Given the description of an element on the screen output the (x, y) to click on. 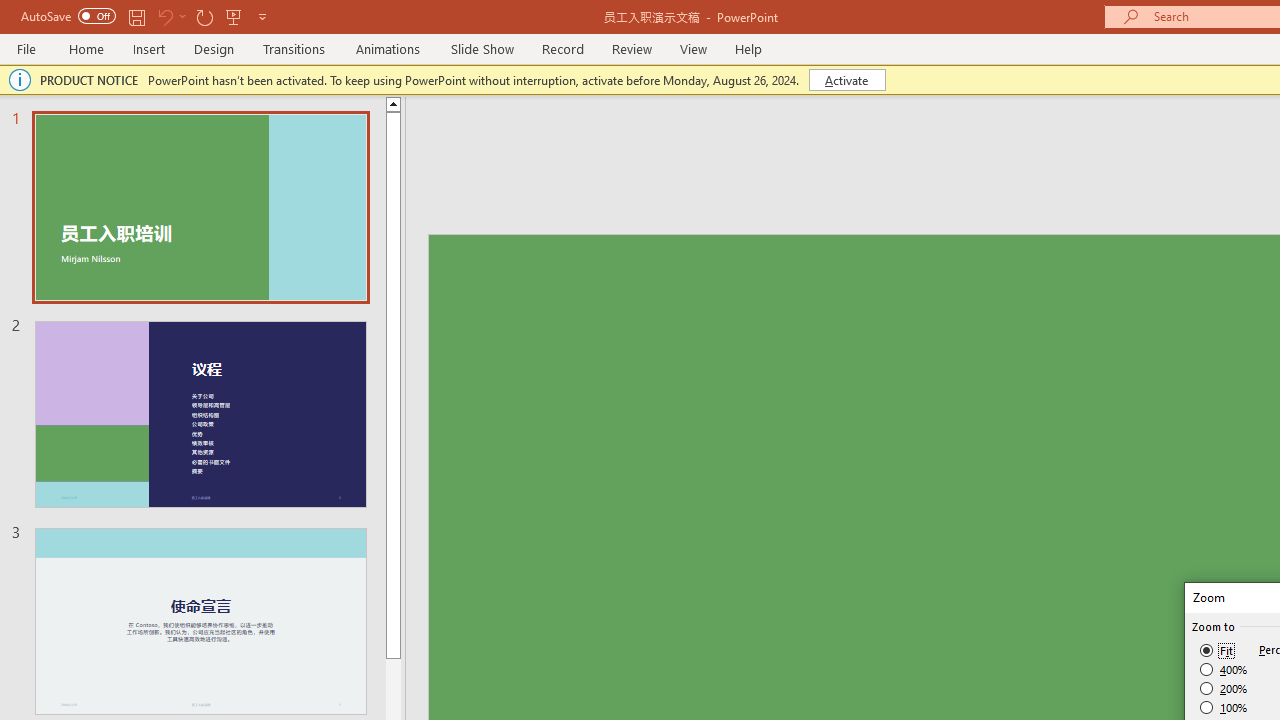
Design (214, 48)
AutoSave (68, 16)
Fit (1217, 650)
100% (1224, 707)
Quick Access Toolbar (145, 16)
System (10, 11)
System (10, 11)
File Tab (26, 48)
Redo (204, 15)
Customize Quick Access Toolbar (262, 15)
Activate (846, 79)
More Options (182, 15)
Review (631, 48)
Transitions (294, 48)
